Given the description of an element on the screen output the (x, y) to click on. 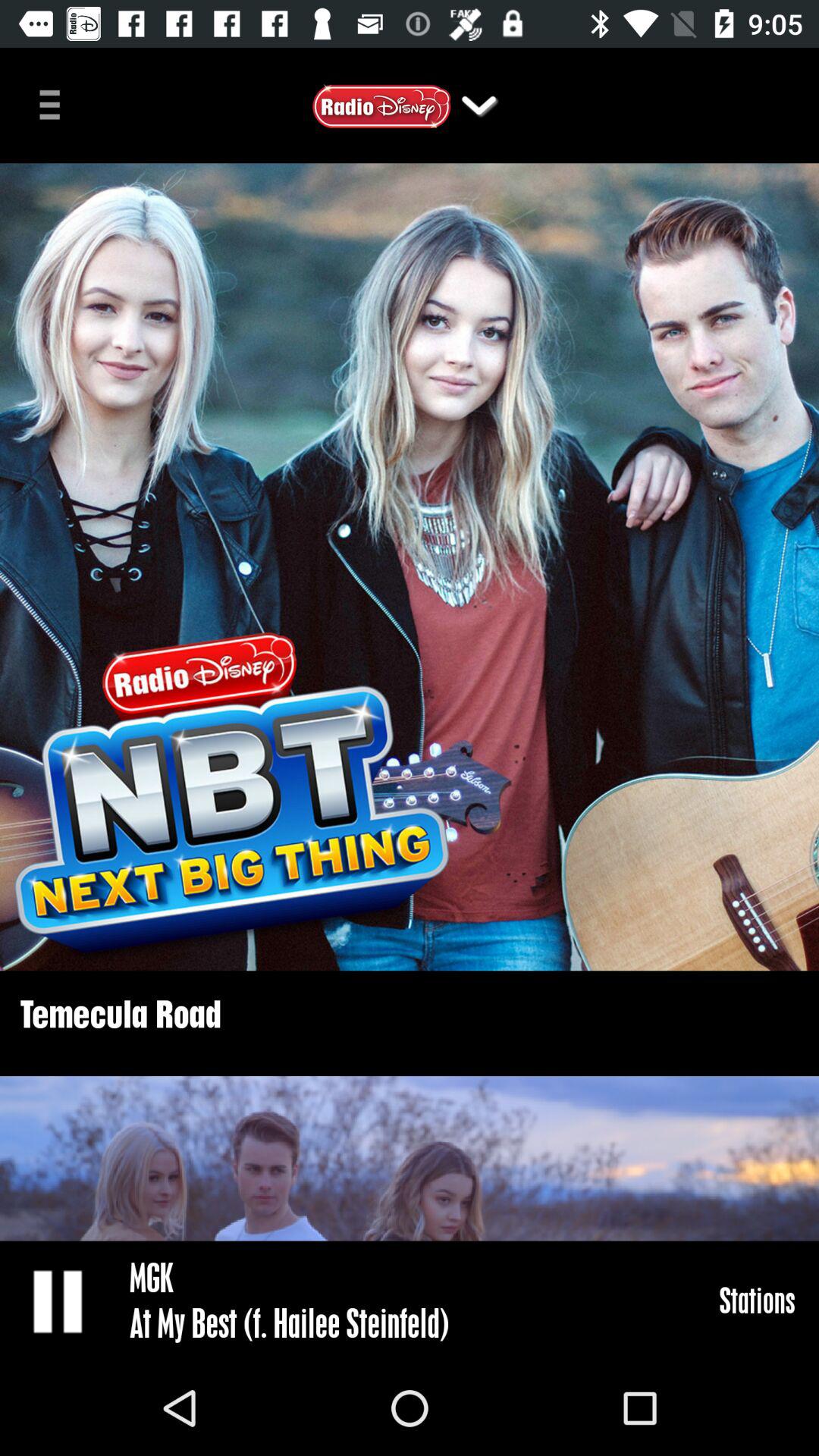
pause the song (59, 1300)
